Given the description of an element on the screen output the (x, y) to click on. 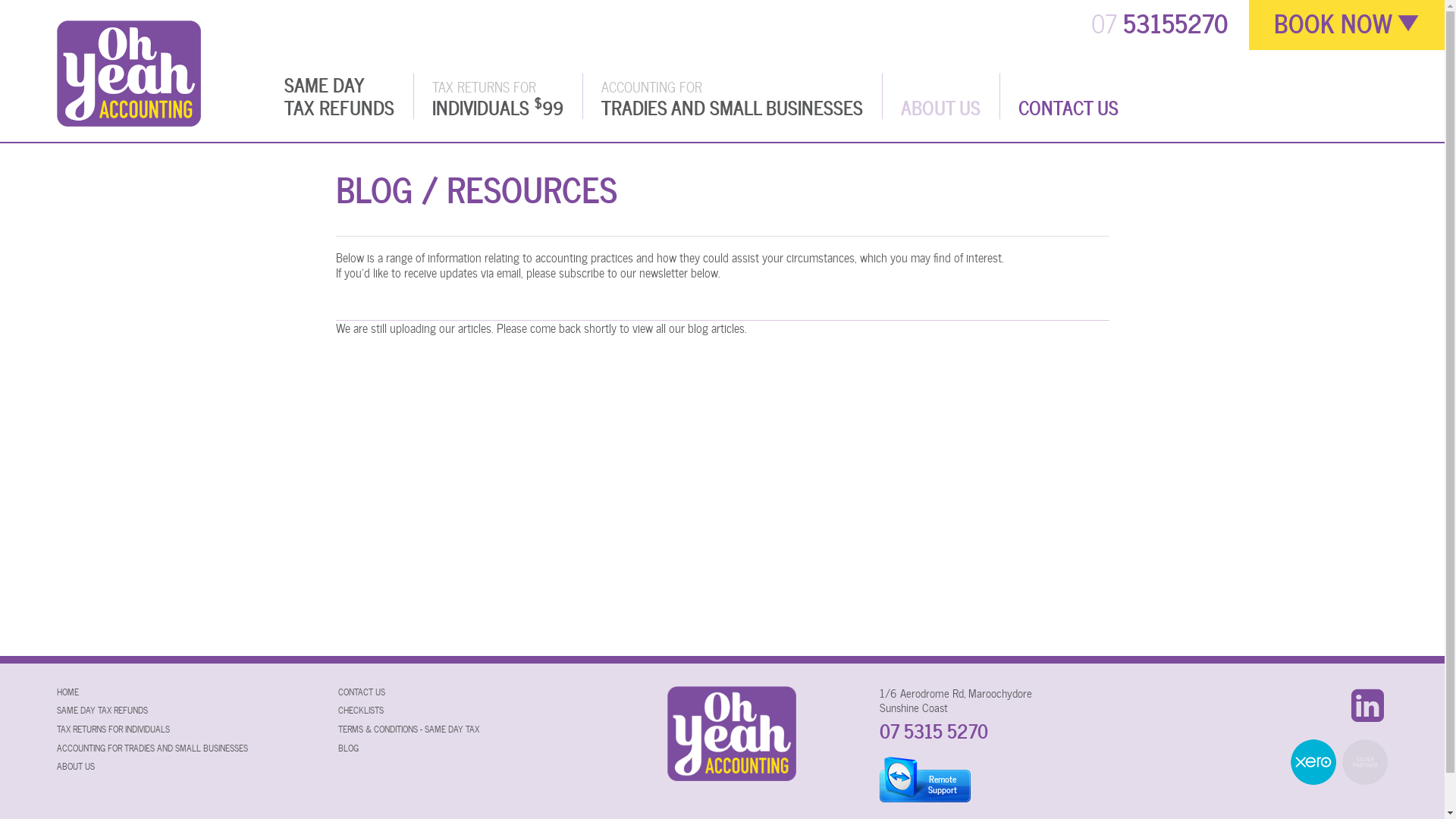
ABOUT US Element type: text (75, 765)
TERMS & CONDITIONS - SAME DAY TAX Element type: text (408, 728)
BLOG Element type: text (348, 747)
TAX RETURNS FOR
INDIVIDUALS $99 Element type: text (496, 95)
CONTACT US Element type: text (1068, 107)
07 5315 5270 Element type: text (933, 730)
ACCOUNTING FOR
TRADIES AND SMALL BUSINESSES Element type: text (731, 95)
ABOUT US Element type: text (939, 107)
CHECKLISTS Element type: text (360, 709)
TAX RETURNS FOR INDIVIDUALS Element type: text (112, 728)
SAME DAY
 TAX REFUNDS Element type: text (339, 95)
CONTACT US Element type: text (361, 691)
07 53155270 Element type: text (1159, 22)
HOME Element type: text (67, 691)
LinkedIn Element type: hover (1367, 705)
SAME DAY TAX REFUNDS Element type: text (101, 709)
Remote Support Element type: text (924, 778)
TeamViewer for Remote Support Element type: hover (924, 779)
BOOK NOW Element type: text (1333, 25)
ACCOUNTING FOR TRADIES AND SMALL BUSINESSES Element type: text (151, 747)
